Given the description of an element on the screen output the (x, y) to click on. 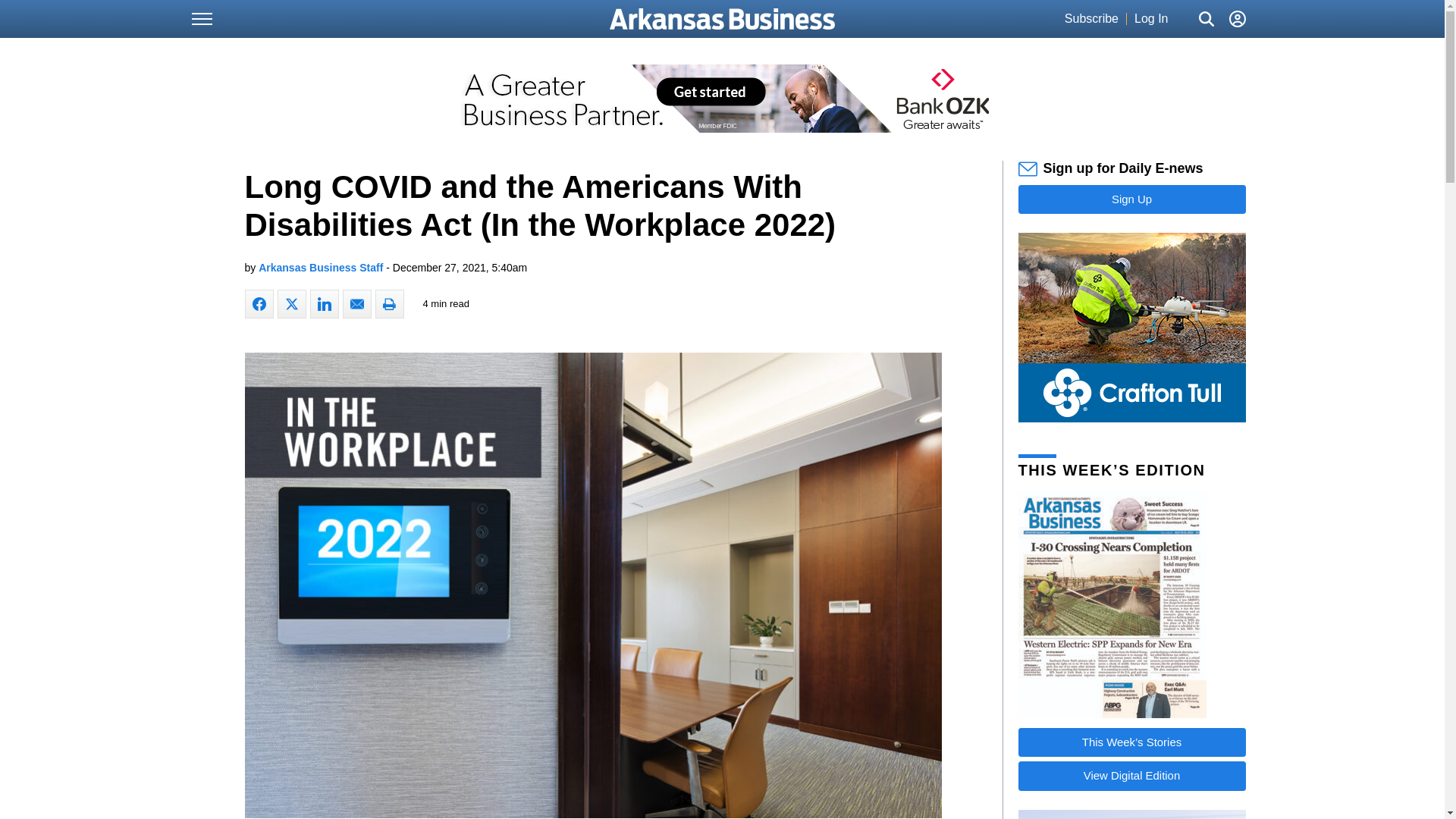
Log In (1150, 19)
Share on Print (388, 303)
Share on Twitter (291, 303)
Posts by Arkansas Business Staff (320, 267)
Share on Email (356, 303)
Subscribe (1091, 19)
Share on LinkedIn (322, 303)
Share on Facebook (258, 303)
